Given the description of an element on the screen output the (x, y) to click on. 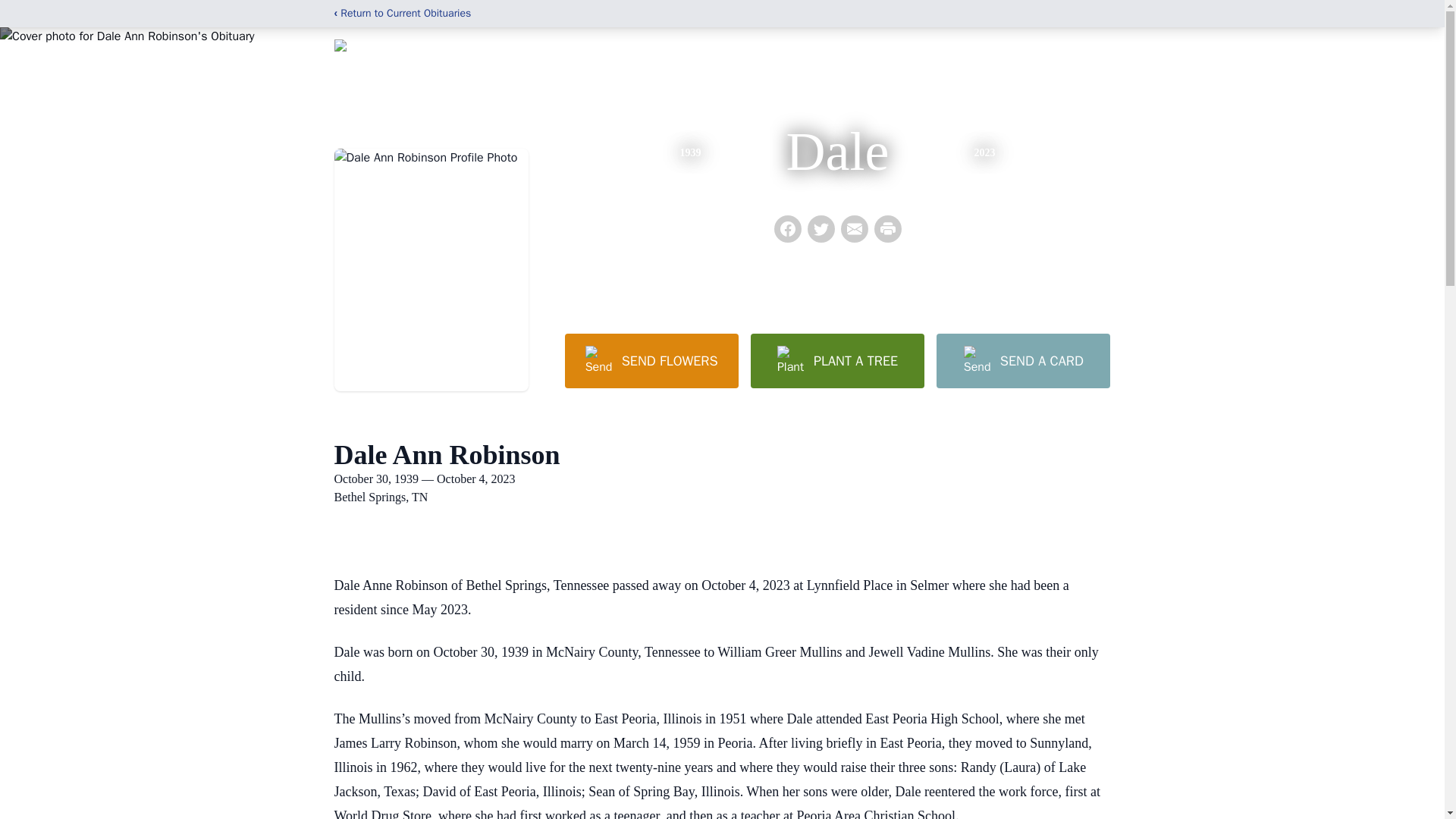
SEND A CARD (1022, 360)
SEND FLOWERS (651, 360)
PLANT A TREE (837, 360)
